Given the description of an element on the screen output the (x, y) to click on. 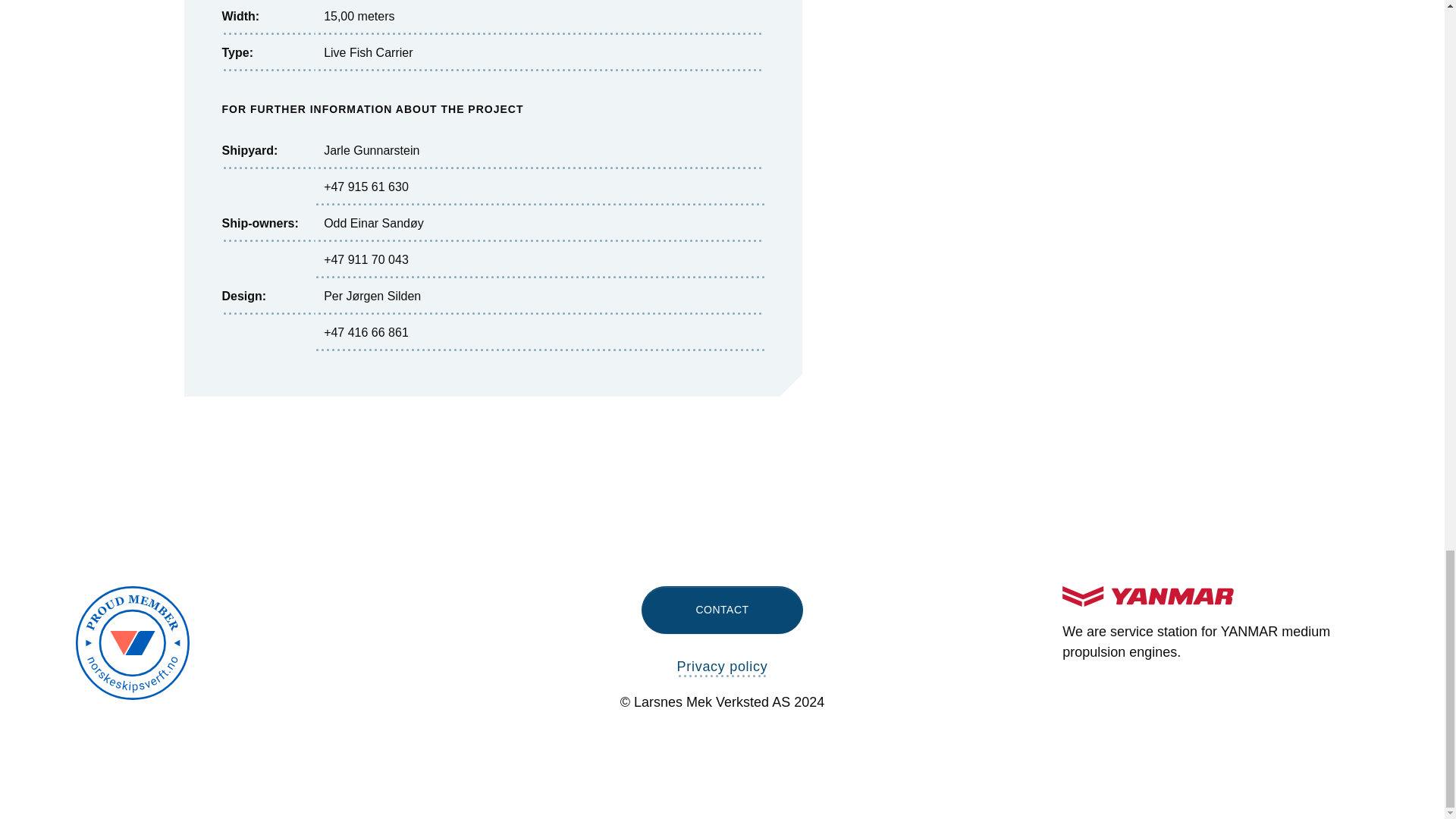
Privacy policy (722, 668)
CONTACT (722, 609)
